Given the description of an element on the screen output the (x, y) to click on. 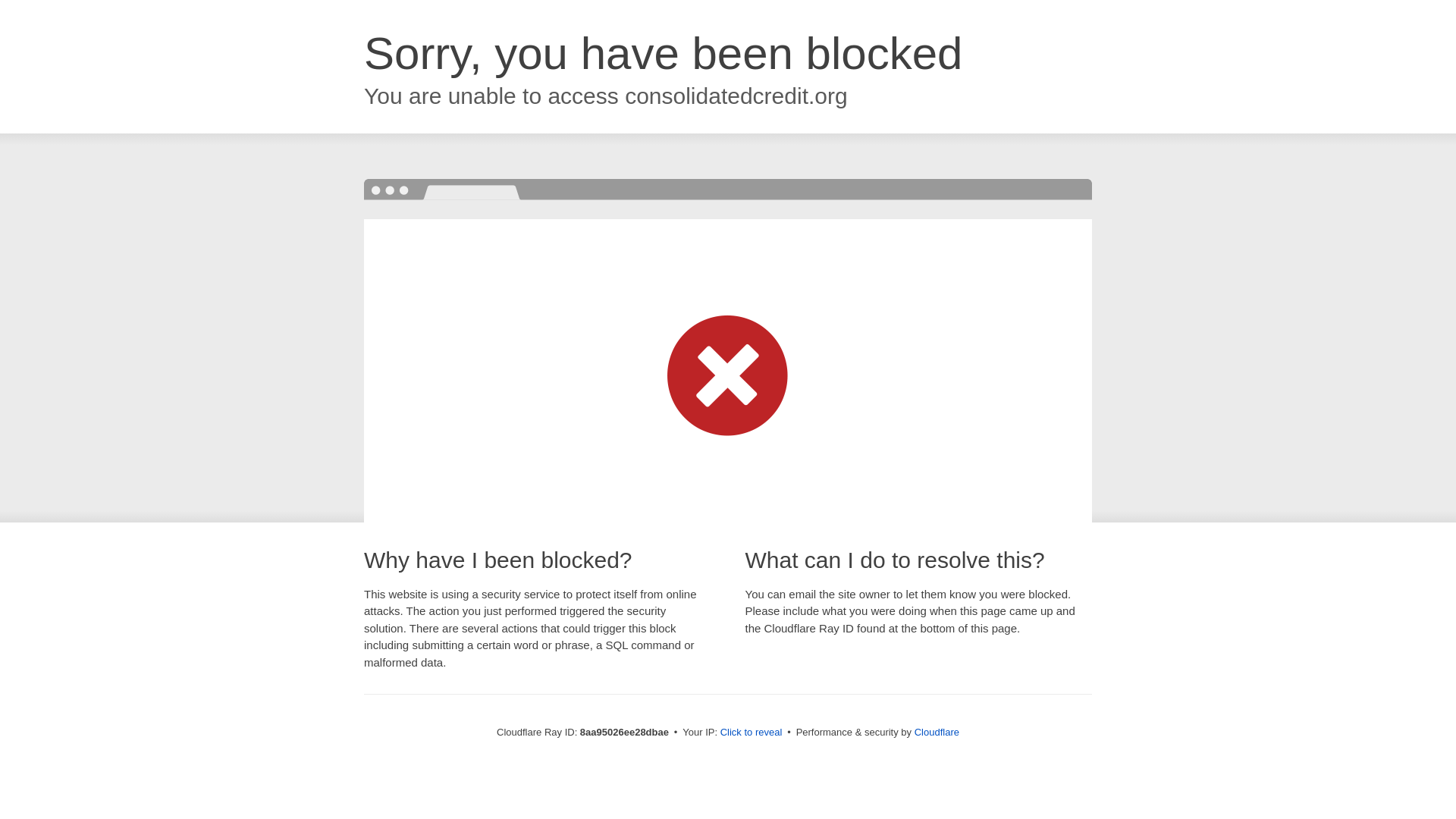
Click to reveal (751, 732)
Cloudflare (936, 731)
